Given the description of an element on the screen output the (x, y) to click on. 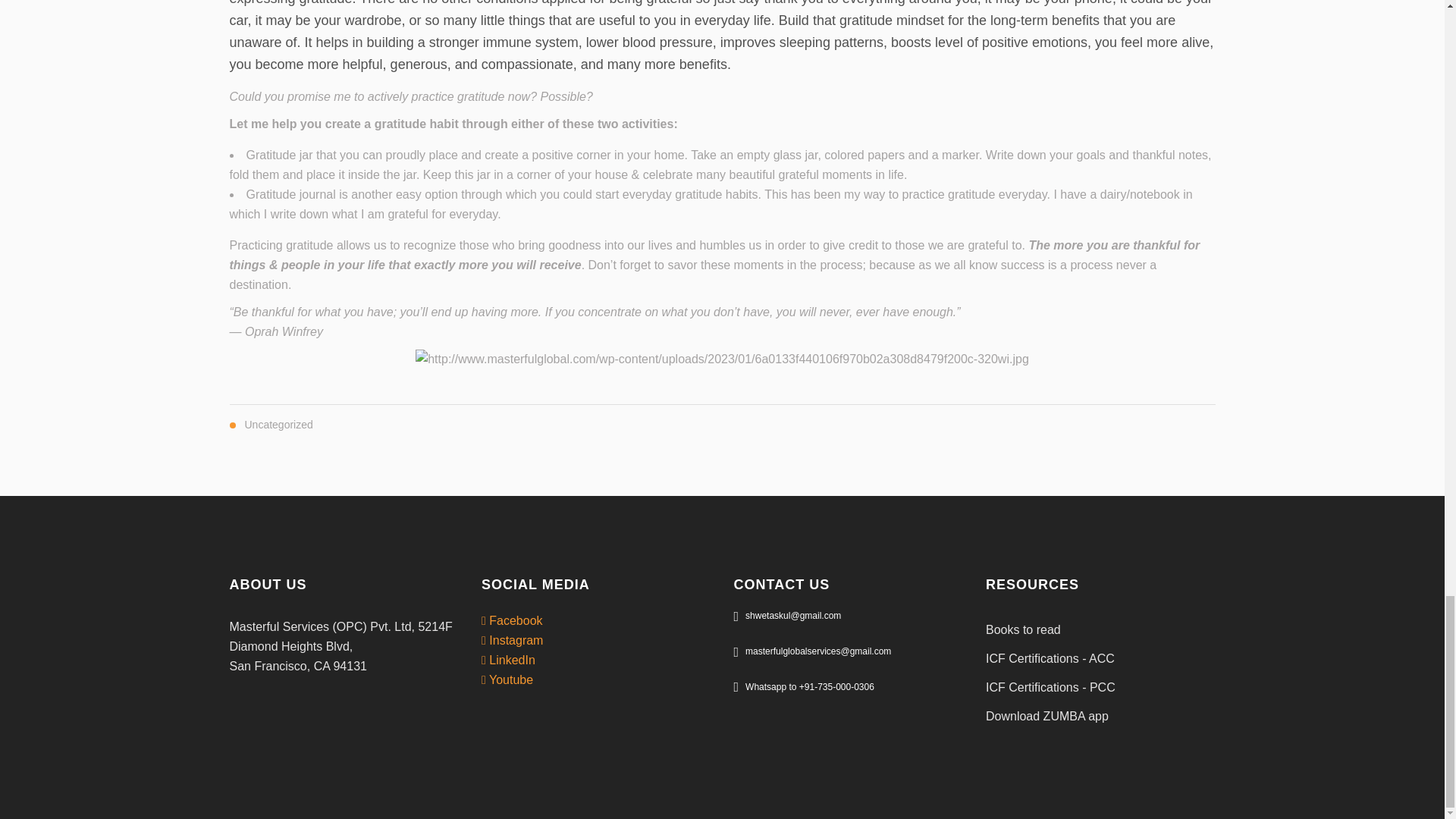
Uncategorized (277, 424)
